Given the description of an element on the screen output the (x, y) to click on. 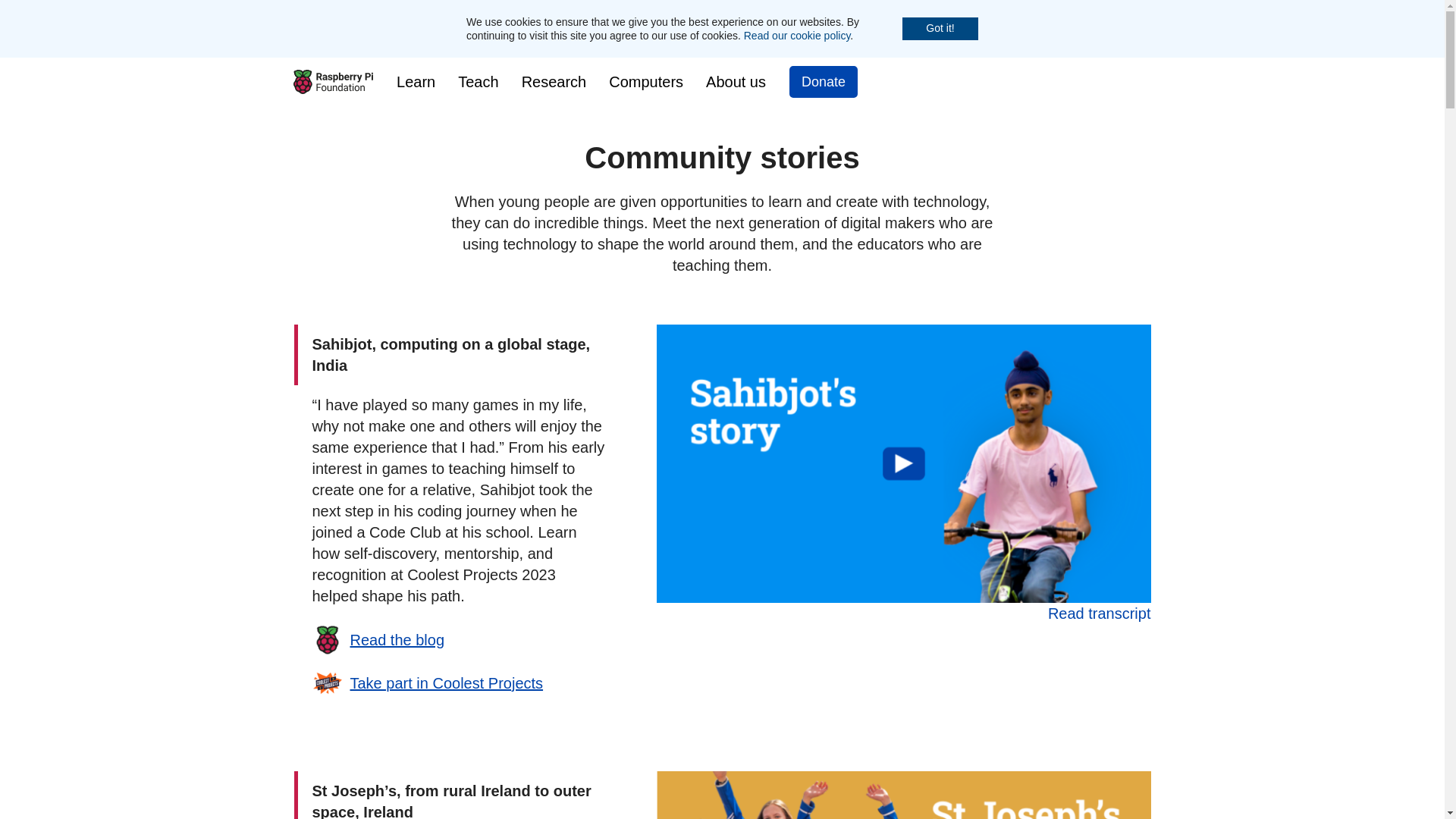
Teach (477, 81)
Research (554, 81)
Got it! (940, 28)
About us (735, 81)
Take part in Coolest Projects (428, 687)
Read the blog (379, 644)
Read transcript (1099, 613)
Read our cookie policy (797, 35)
Donate (823, 81)
Learn (415, 81)
